Given the description of an element on the screen output the (x, y) to click on. 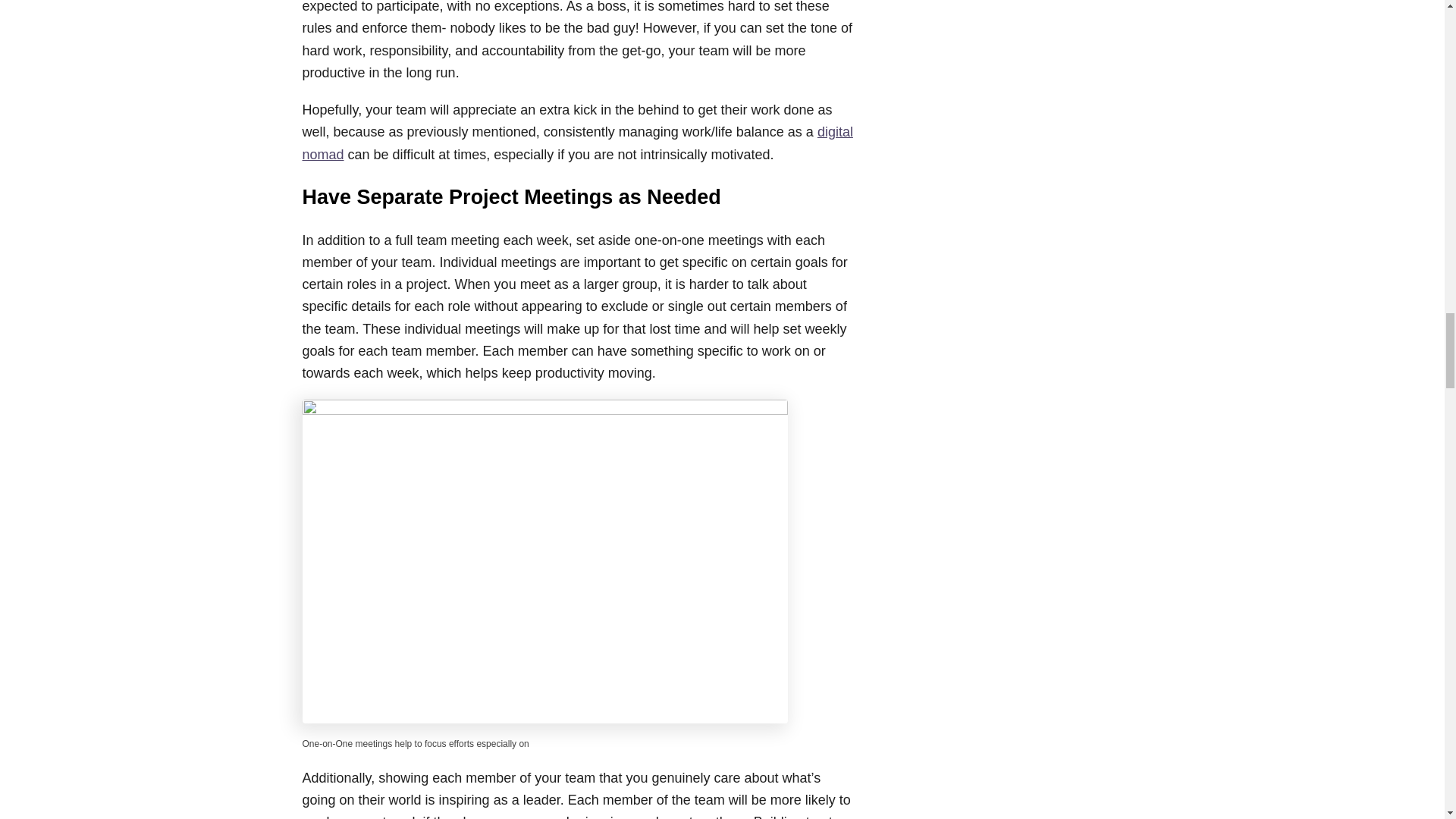
digital nomad (576, 142)
digital nomad (576, 142)
